Given the description of an element on the screen output the (x, y) to click on. 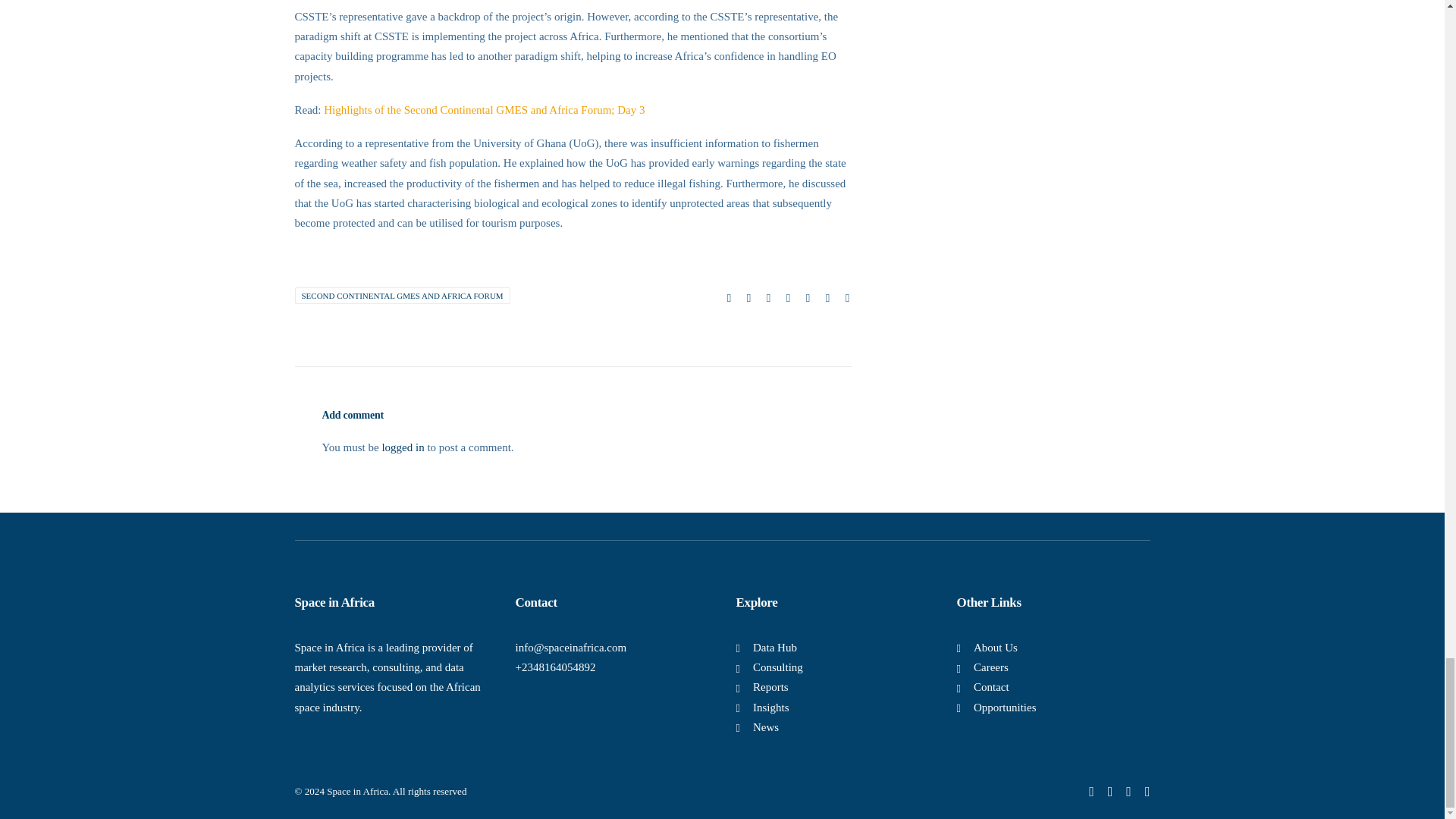
Reports (770, 686)
Data Hub (774, 647)
logged in (402, 447)
SECOND CONTINENTAL GMES AND AFRICA FORUM (401, 295)
Consulting (777, 666)
Insights (770, 707)
